Given the description of an element on the screen output the (x, y) to click on. 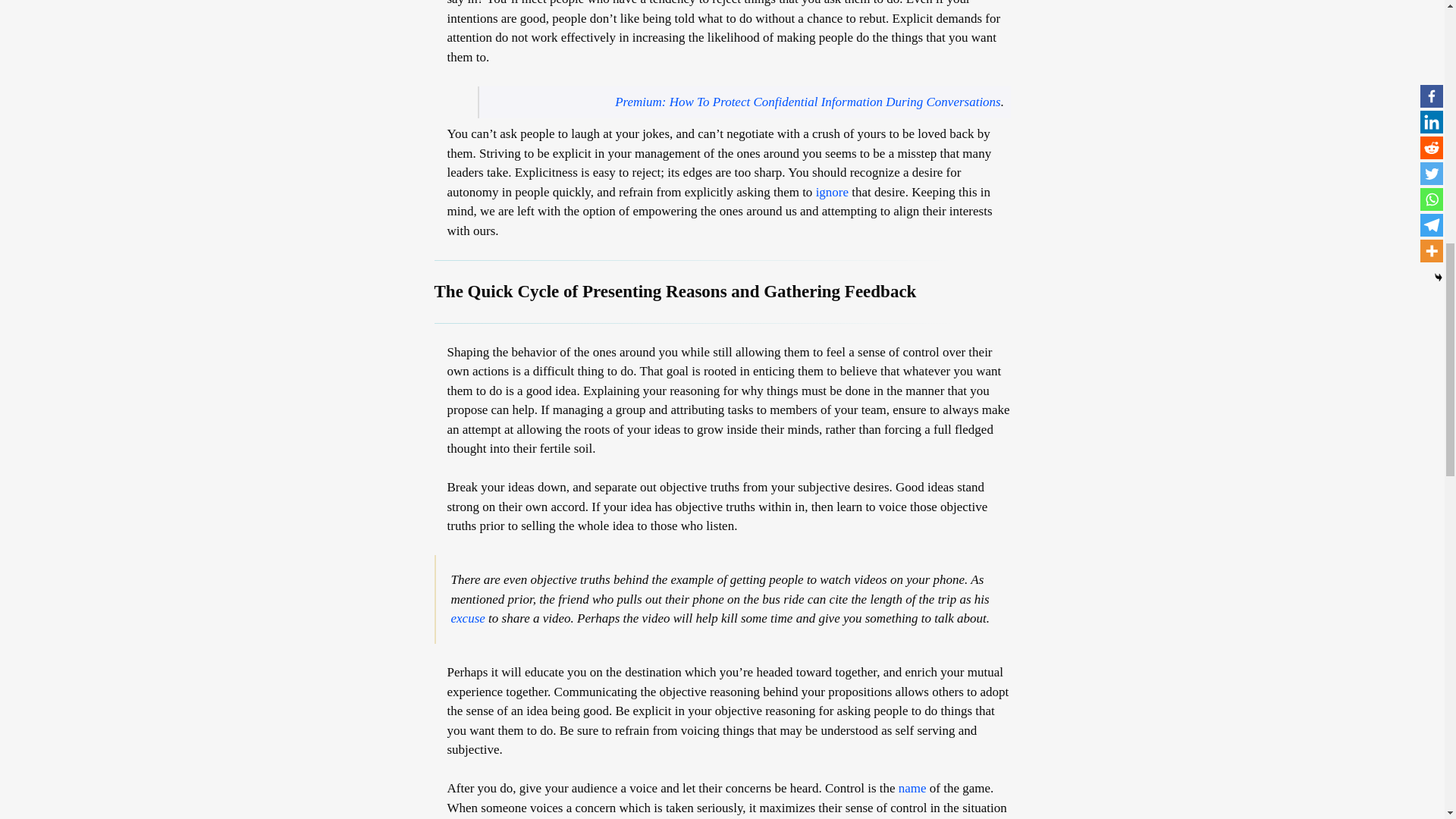
How to Deal With People Who Always Make Excuses (466, 617)
Why Giving Nicknames Is an Effective Method of Control (912, 788)
